Given the description of an element on the screen output the (x, y) to click on. 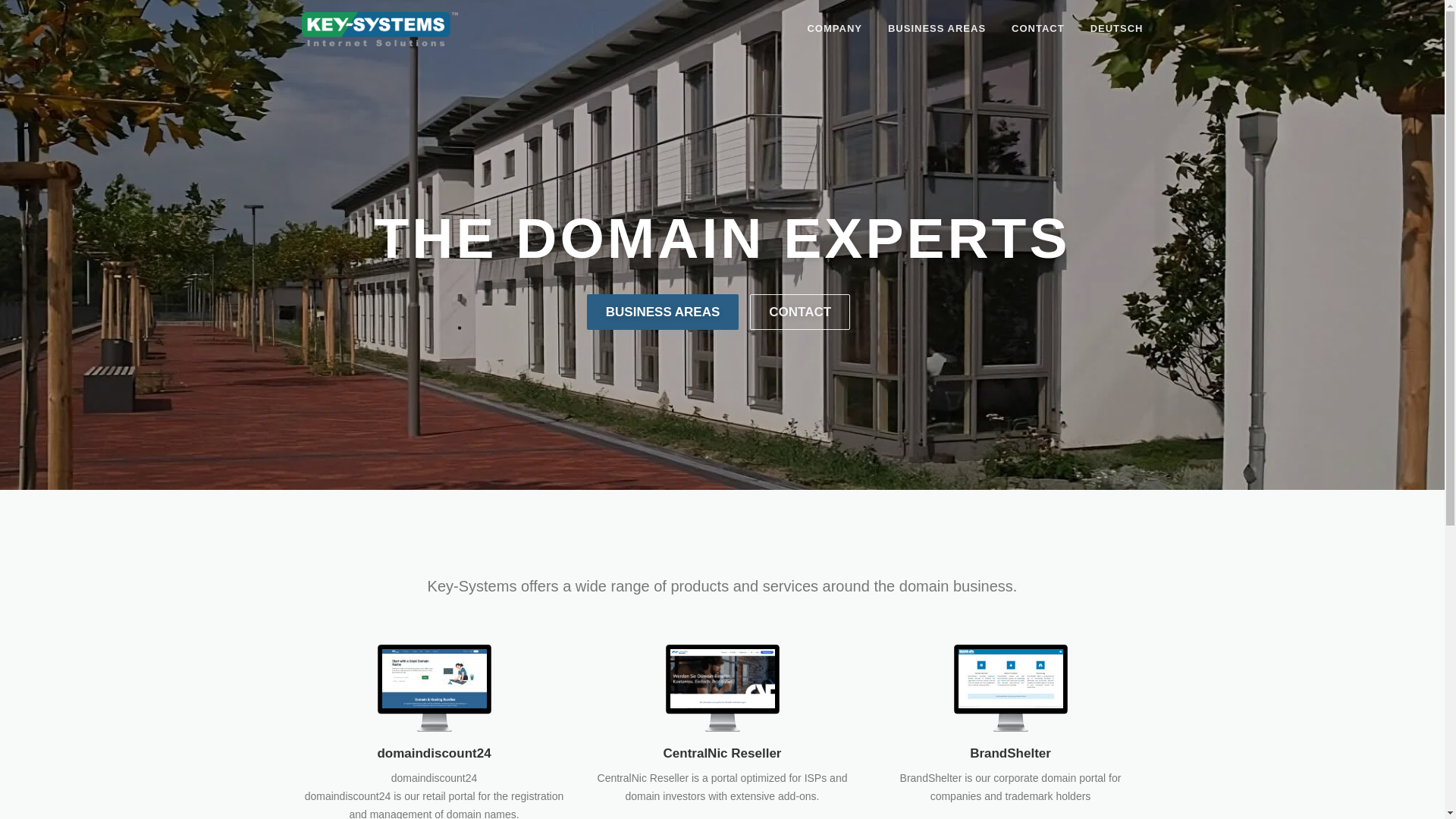
COMPANY Element type: text (833, 28)
BrandShelter Element type: text (1010, 753)
BUSINESS AREAS Element type: text (936, 28)
domaindiscount24 Element type: text (433, 753)
BUSINESS AREAS Element type: text (662, 311)
domaindiscount24 Element type: hover (434, 686)
CentralNic Reseller Element type: text (722, 753)
CentralNic Reseller Element type: hover (722, 686)
CONTACT Element type: text (1037, 28)
BrandShelter Element type: hover (1010, 686)
CONTACT Element type: text (799, 311)
DEUTSCH Element type: text (1110, 28)
